Given the description of an element on the screen output the (x, y) to click on. 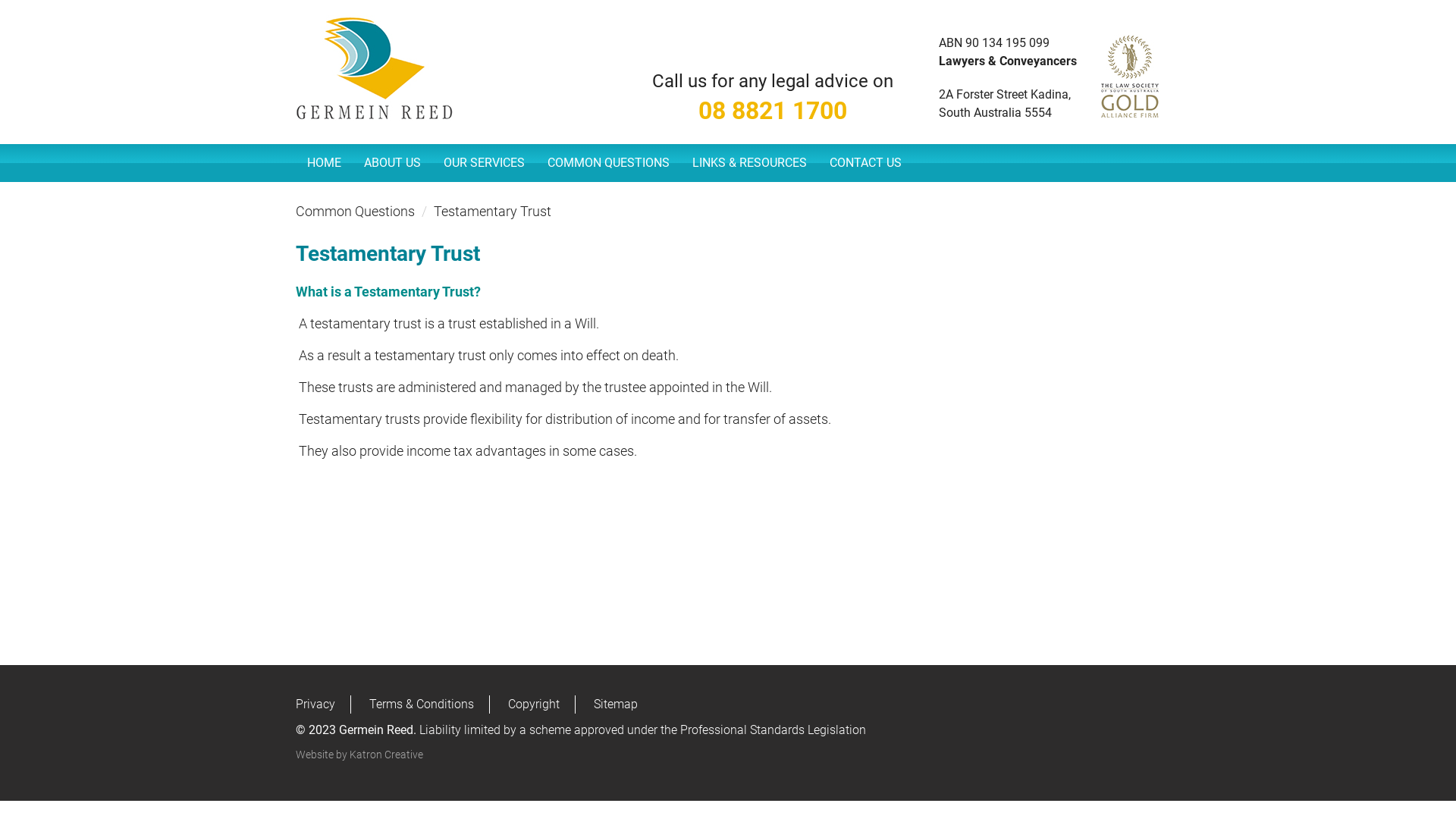
Copyright Element type: text (533, 703)
CONTACT US Element type: text (865, 163)
ABOUT US Element type: text (392, 163)
Privacy Element type: text (315, 703)
HOME Element type: text (323, 163)
OUR SERVICES Element type: text (484, 163)
Terms & Conditions Element type: text (421, 703)
Sitemap Element type: text (615, 703)
COMMON QUESTIONS Element type: text (608, 163)
LINKS & RESOURCES Element type: text (749, 163)
08 8821 1700 Element type: text (772, 118)
